Given the description of an element on the screen output the (x, y) to click on. 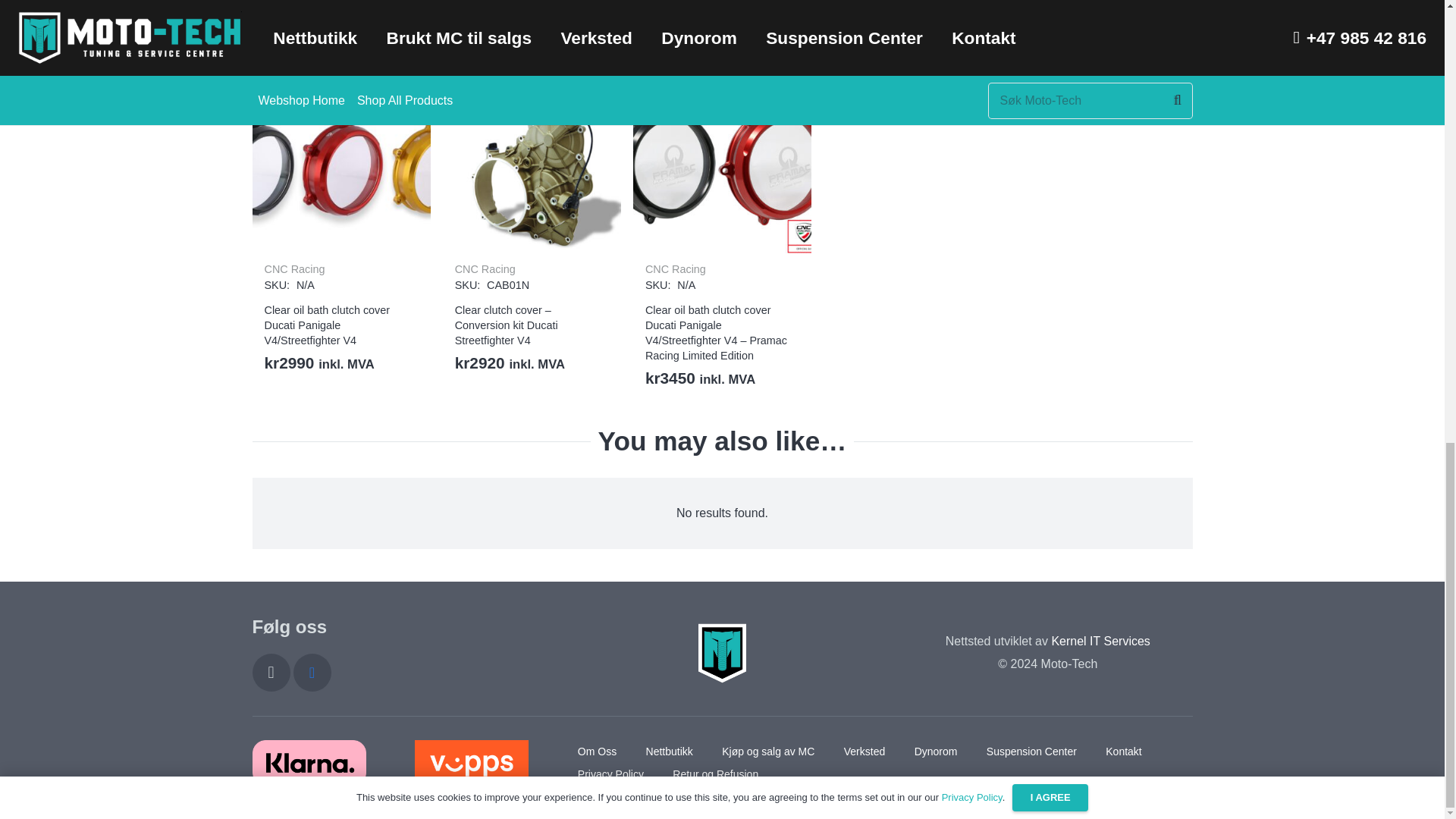
Facebook (311, 672)
Instagram (270, 672)
